Given the description of an element on the screen output the (x, y) to click on. 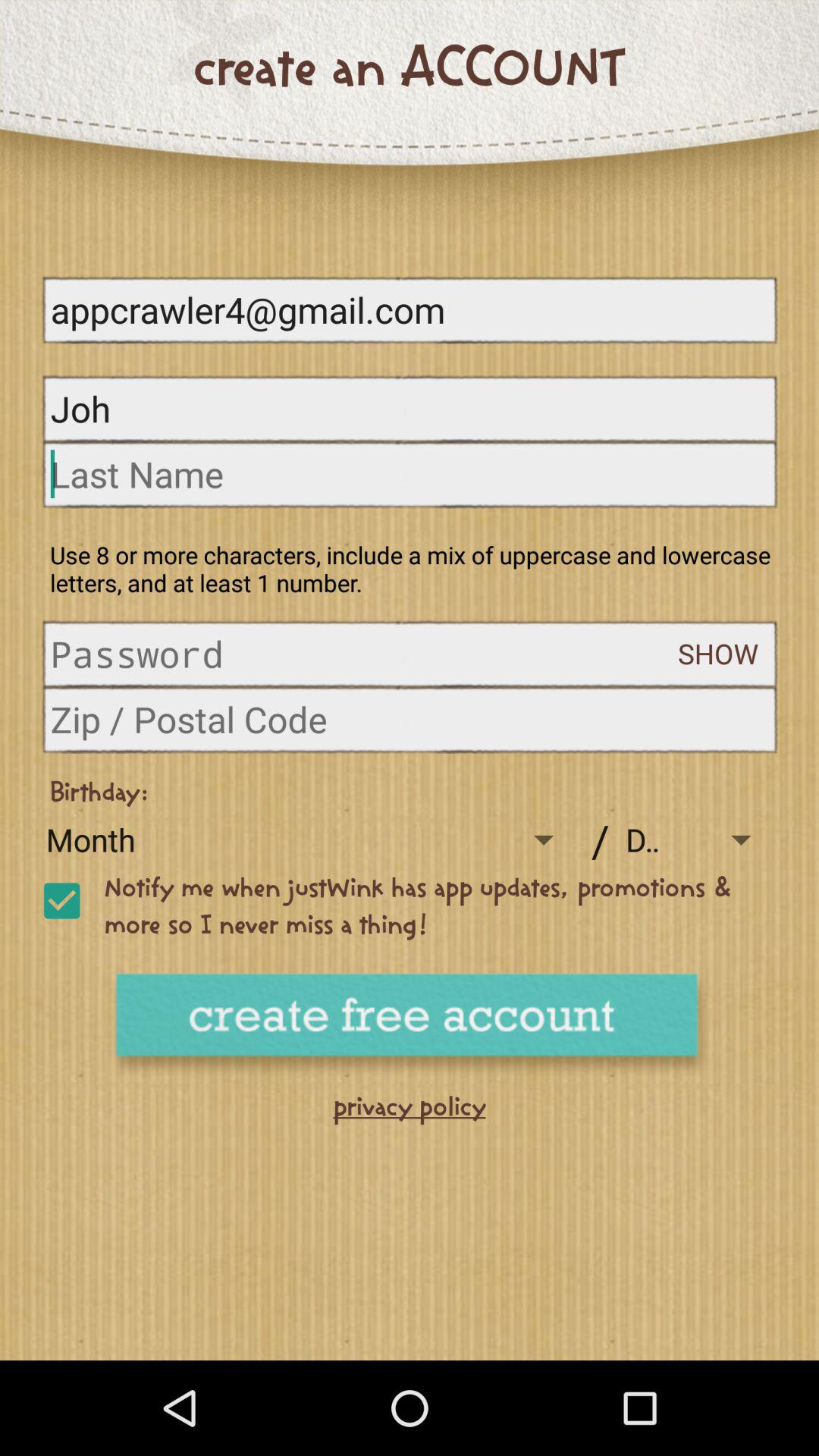
uncheck selection (61, 900)
